Given the description of an element on the screen output the (x, y) to click on. 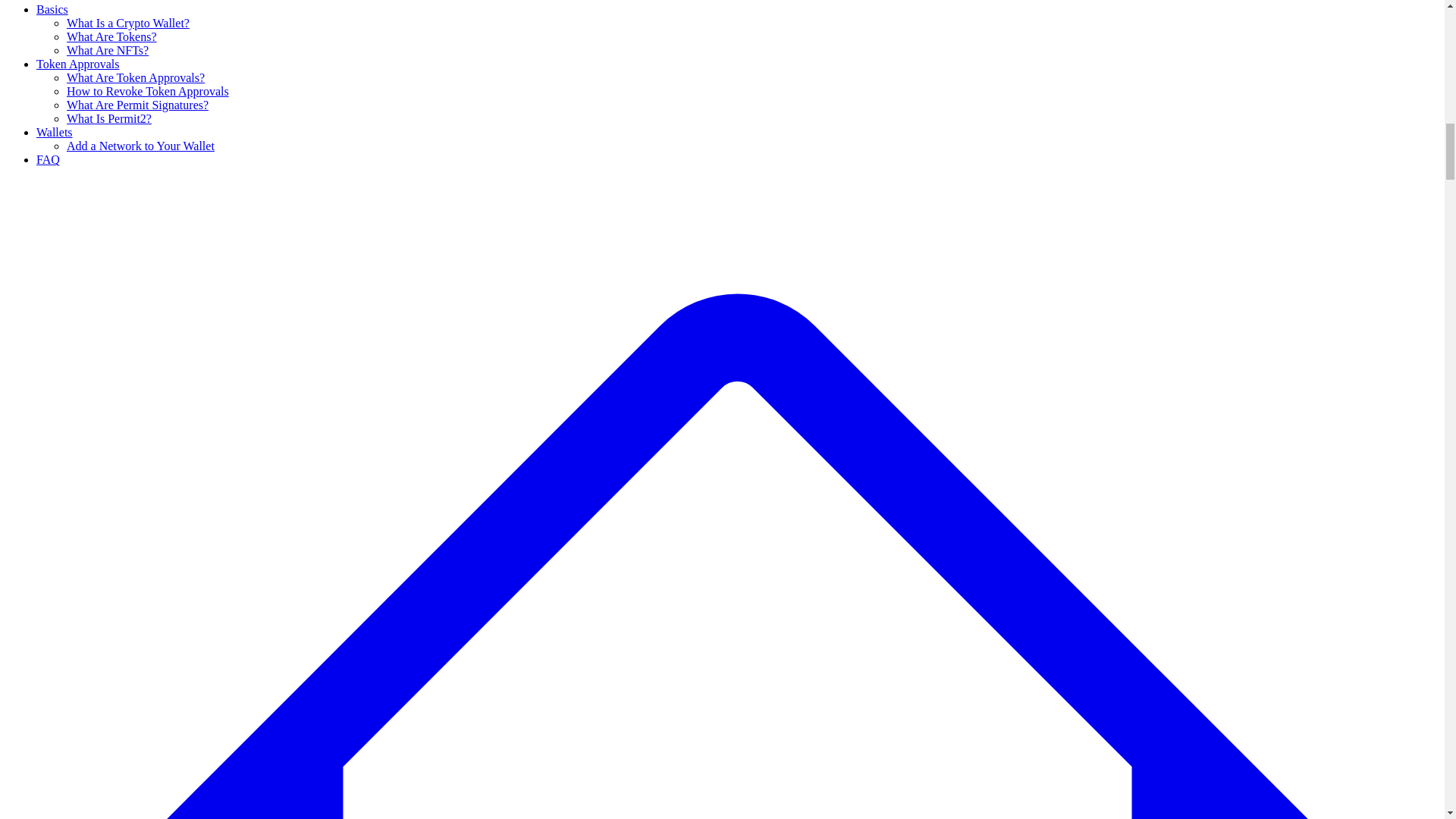
What Are Token Approvals? (135, 77)
How to Revoke Token Approvals (147, 91)
What Are Tokens? (111, 36)
Wallets (54, 132)
What Are NFTs? (107, 50)
What Are Permit Signatures? (137, 104)
Basics (52, 9)
FAQ (47, 159)
What Is Permit2? (108, 118)
Token Approvals (77, 63)
Add a Network to Your Wallet (140, 145)
What Is a Crypto Wallet? (127, 22)
